Given the description of an element on the screen output the (x, y) to click on. 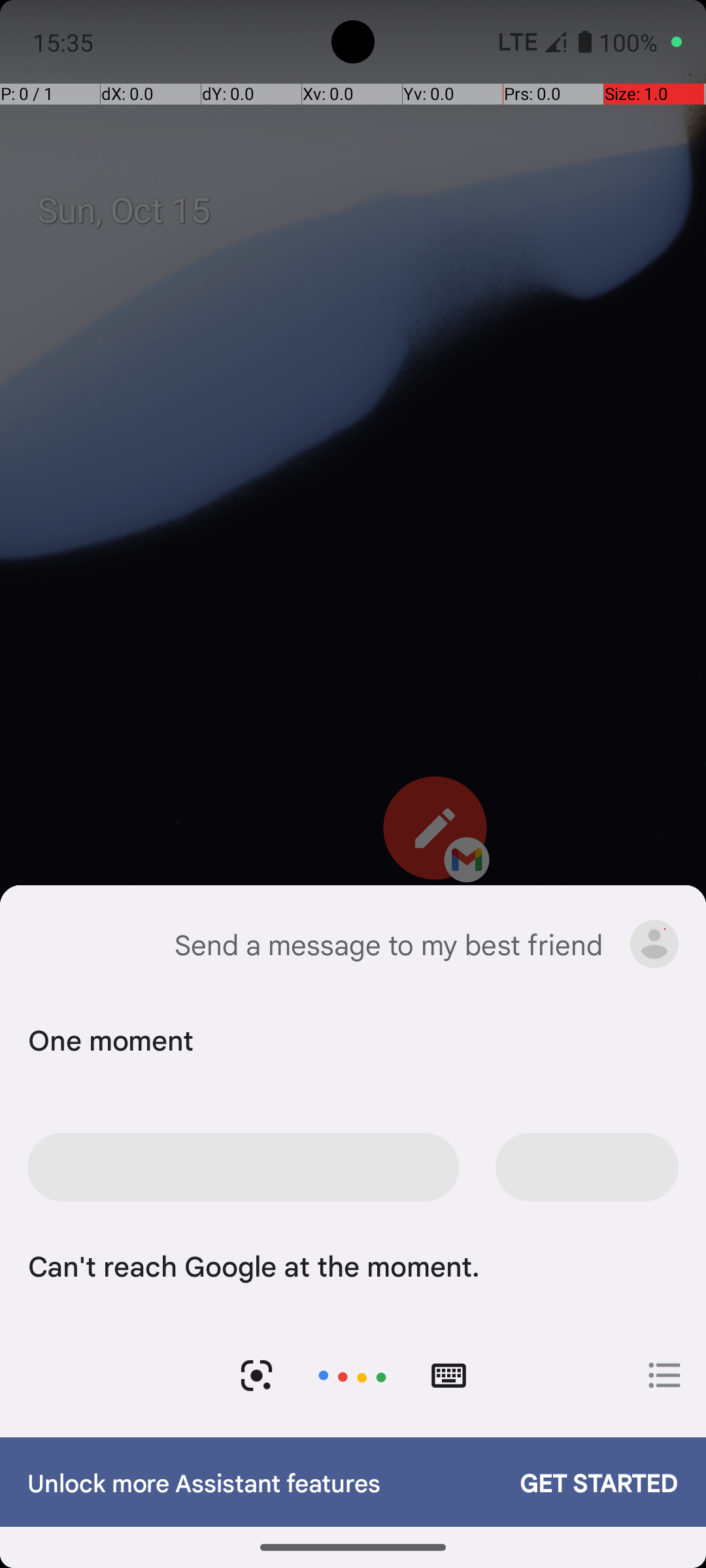
Tap to dismiss Assistant Element type: android.view.ViewGroup (353, 804)
Google Assistant widget. Element type: android.support.v7.widget.RecyclerView (353, 1161)
Tap to cancel Element type: android.view.View (351, 1375)
Type mode Element type: android.widget.ImageView (448, 1375)
Unlock more Assistant features Element type: android.widget.TextView (259, 1481)
GET STARTED Element type: android.widget.TextView (585, 1481)
Open explore page Element type: android.widget.ImageView (664, 1375)
Google assistant Element type: android.widget.ImageView (48, 943)
Send a message to my best friend Element type: com.google.android.apps.gsa.searchplate.widget.StreamingTextView (387, 943)
Google Assistant menu. Element type: android.widget.ImageView (654, 943)
One moment Element type: android.widget.TextView (349, 1038)
Can't reach Google at the moment. Element type: android.widget.TextView (349, 1264)
